Given the description of an element on the screen output the (x, y) to click on. 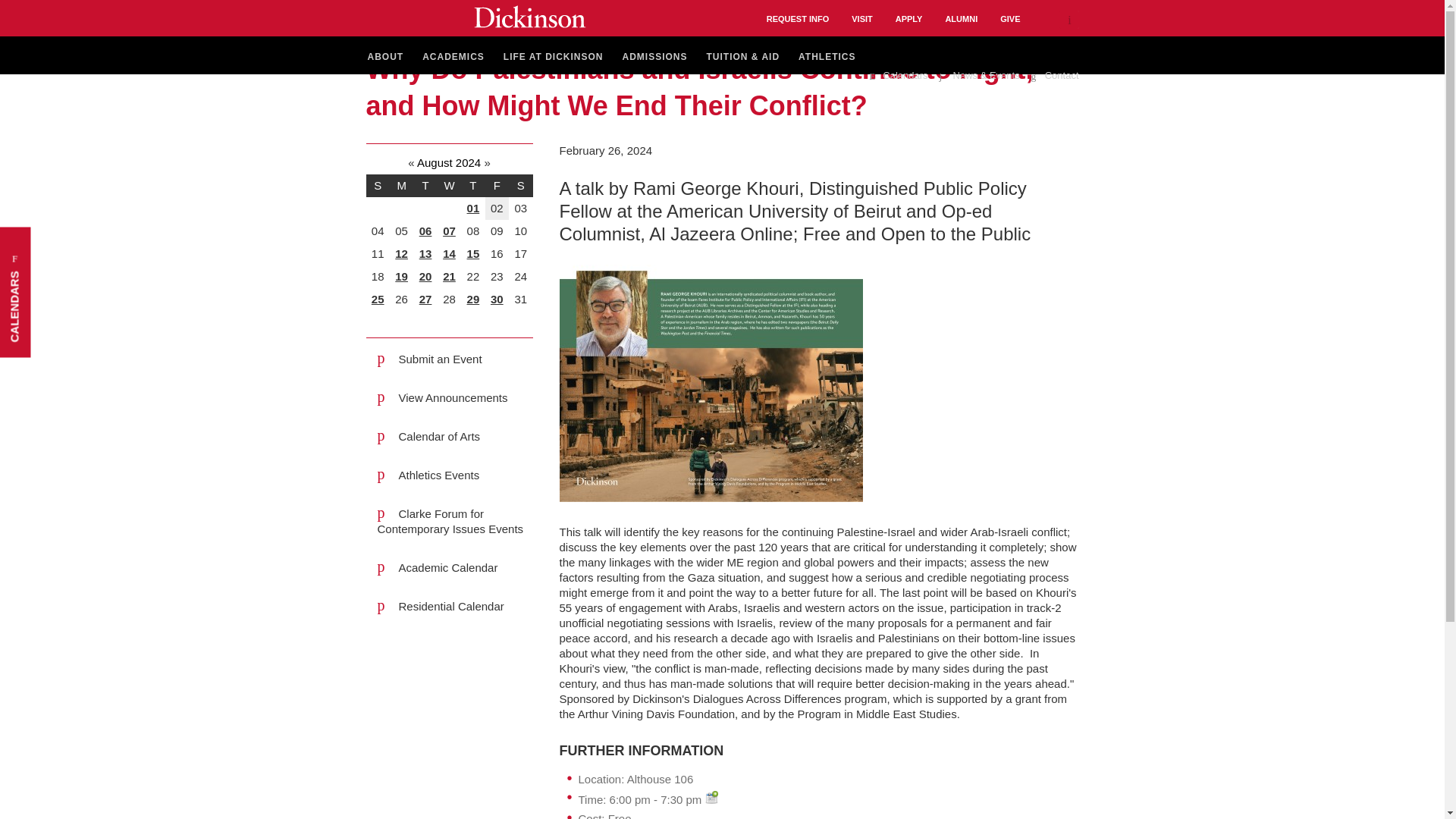
ADMISSIONS (654, 58)
LIFE AT DICKINSON (553, 58)
Dickinson College Athletics (826, 58)
Contact (1054, 75)
Calendars (898, 75)
ACADEMICS (453, 58)
GIVE (1010, 18)
CALENDARS (65, 242)
DICKINSON COLLEGE (529, 15)
APPLY (909, 18)
